Given the description of an element on the screen output the (x, y) to click on. 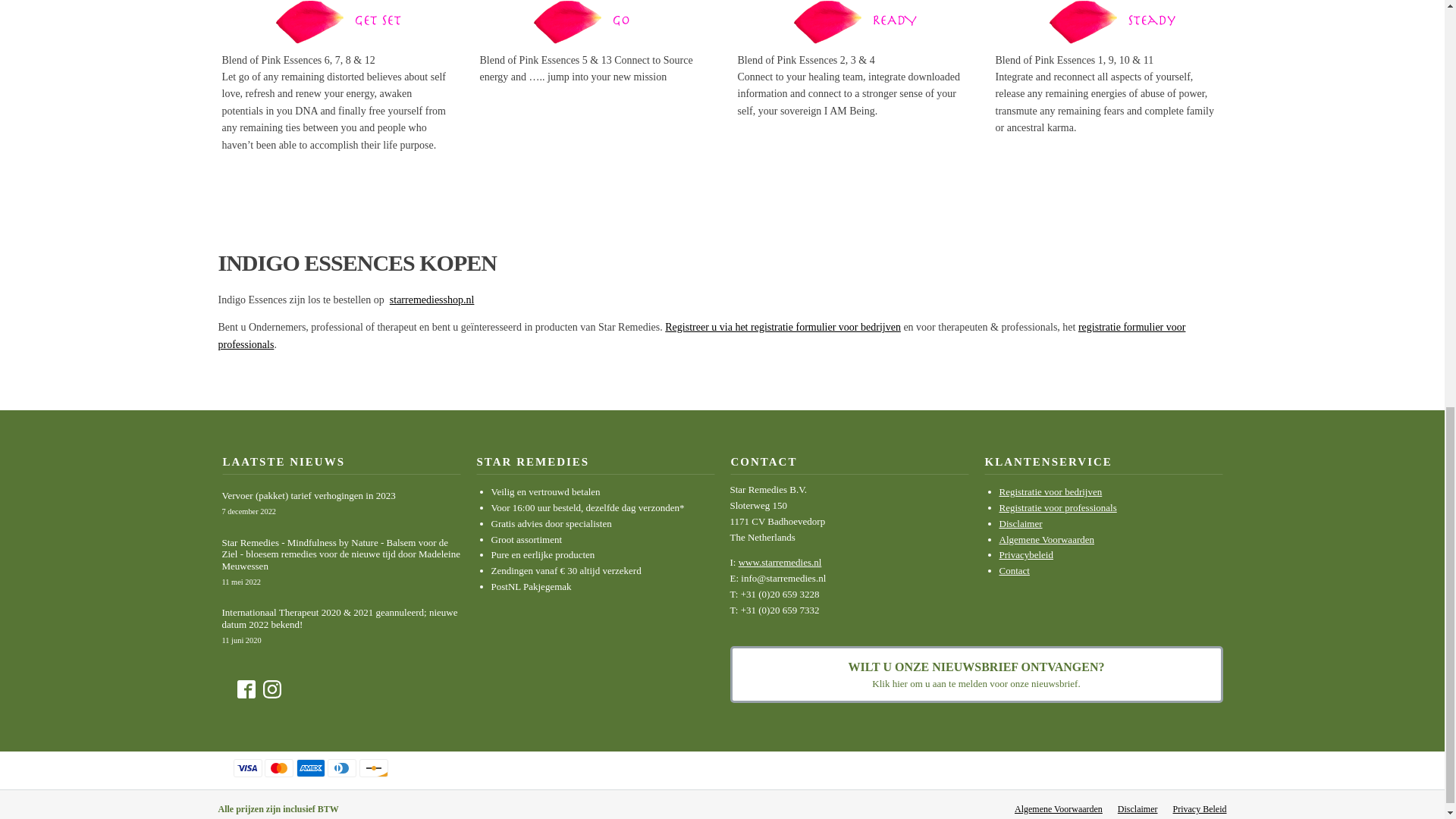
American Express (309, 768)
Diners Club (341, 768)
Star Remedies BV Reviews on Kiyoh (1135, 769)
Visa (247, 768)
Mastercard (279, 768)
Discover (373, 768)
